Given the description of an element on the screen output the (x, y) to click on. 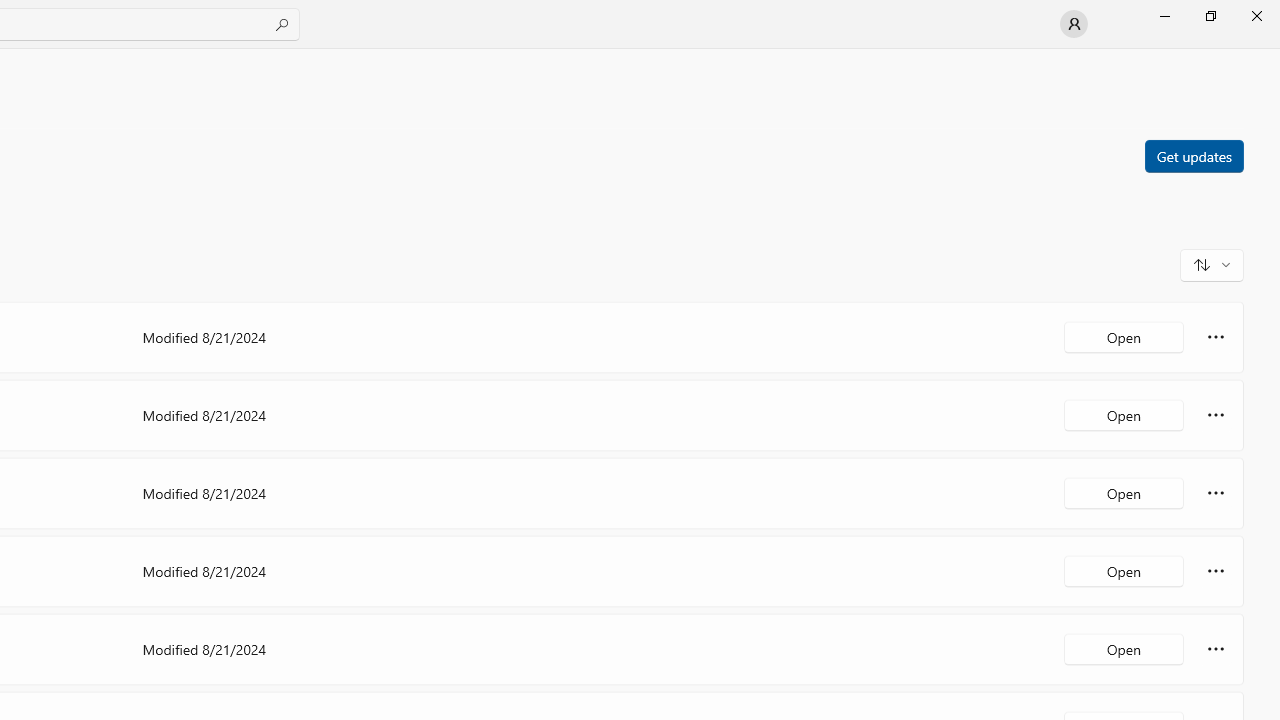
Sort and filter (1212, 263)
Open (1123, 648)
Get updates (1193, 155)
More options (1215, 648)
